Given the description of an element on the screen output the (x, y) to click on. 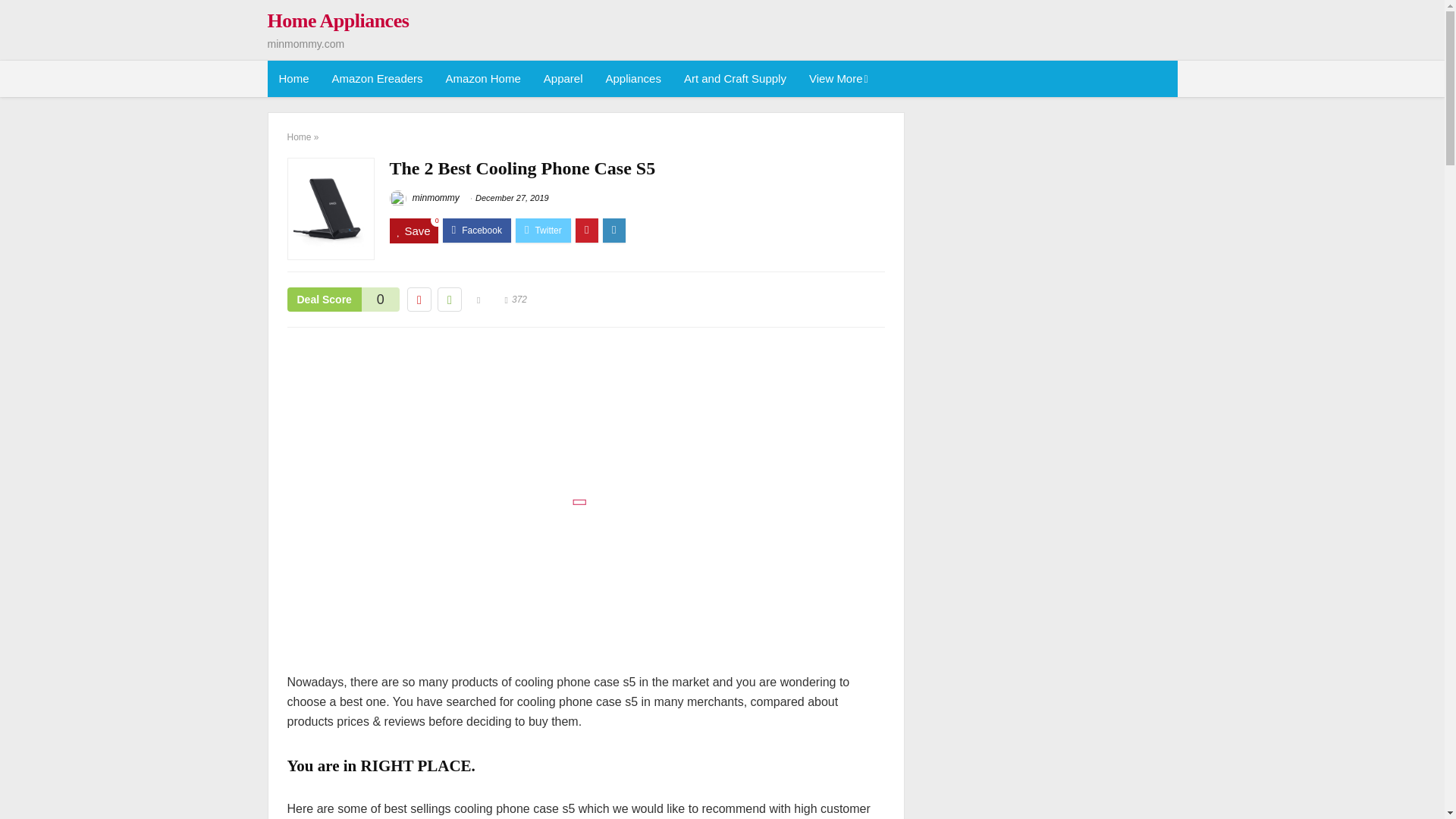
Apparel (563, 78)
Amazon Home (482, 78)
Amazon Ereaders (376, 78)
Appliances (633, 78)
Vote down (418, 299)
View More (836, 78)
Home (293, 78)
Art and Craft Supply (734, 78)
